Given the description of an element on the screen output the (x, y) to click on. 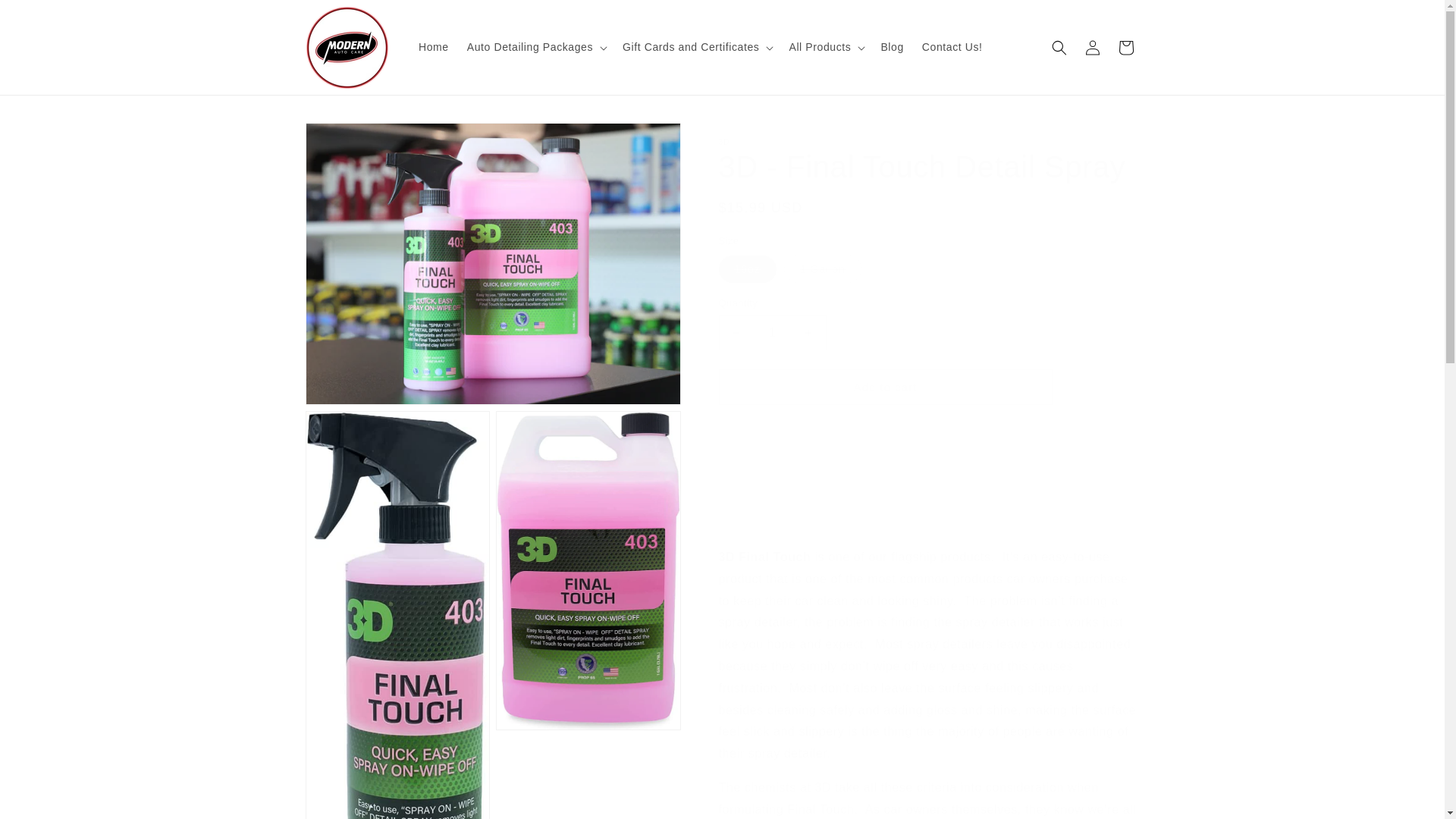
Open media 1 in modal (491, 263)
Skip to content (45, 17)
Home (433, 47)
1 (773, 332)
